Given the description of an element on the screen output the (x, y) to click on. 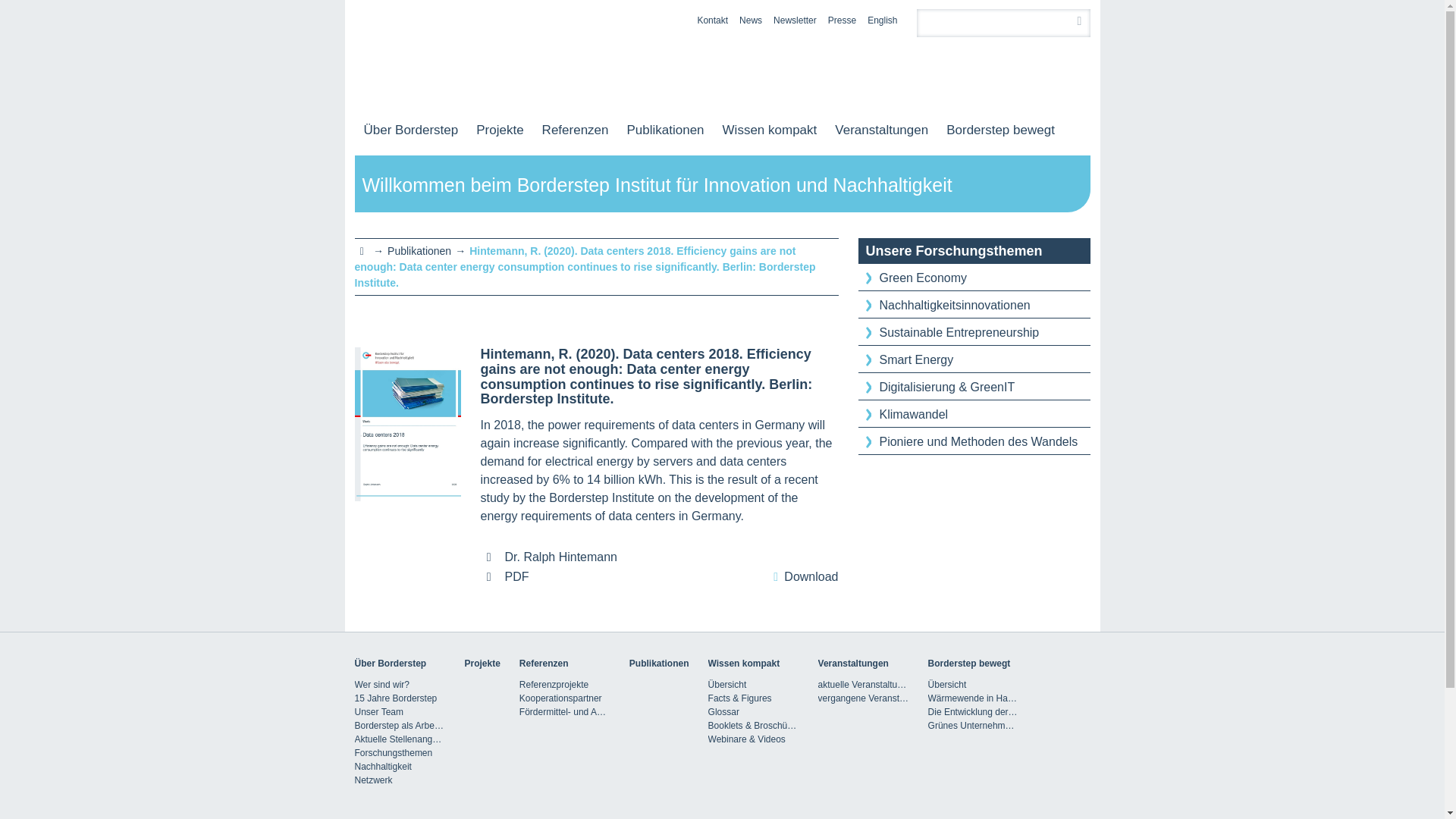
Referenzen (574, 129)
Presse (842, 20)
aktuelle Veranstaltungen (863, 684)
Unser Team (400, 712)
Publikationen (419, 250)
News (750, 20)
Publikationen (665, 129)
Borderstep bewegt (1000, 129)
vergangene Veranstaltungen (863, 698)
Netzwerk (400, 780)
Wer sind wir? (400, 684)
English (881, 20)
Veranstaltungen (881, 129)
Newsletter (794, 20)
Kontakt (712, 20)
